Given the description of an element on the screen output the (x, y) to click on. 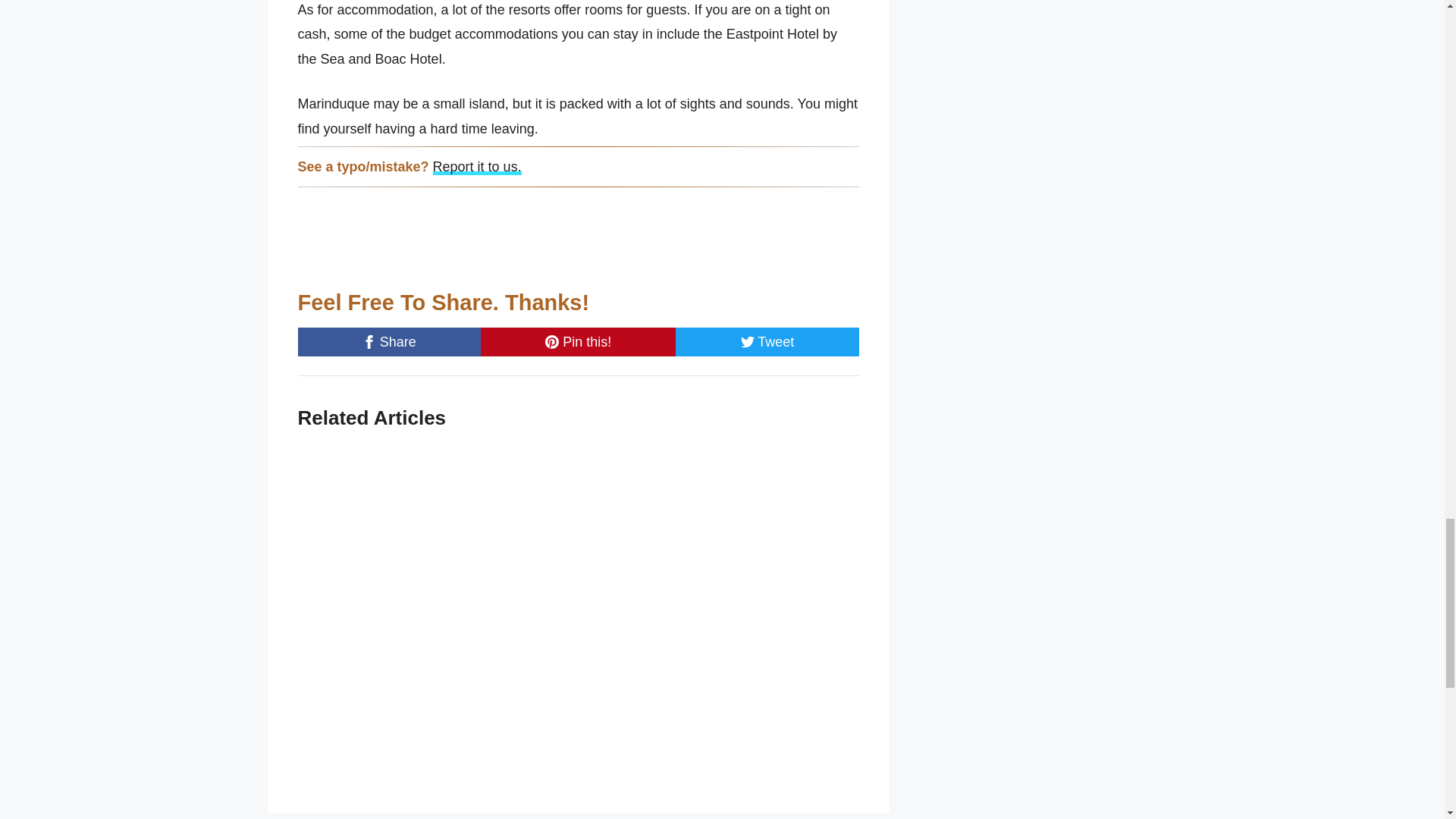
Tweet (767, 341)
Share (388, 341)
Report it to us. (476, 166)
Pin this! (577, 341)
